Given the description of an element on the screen output the (x, y) to click on. 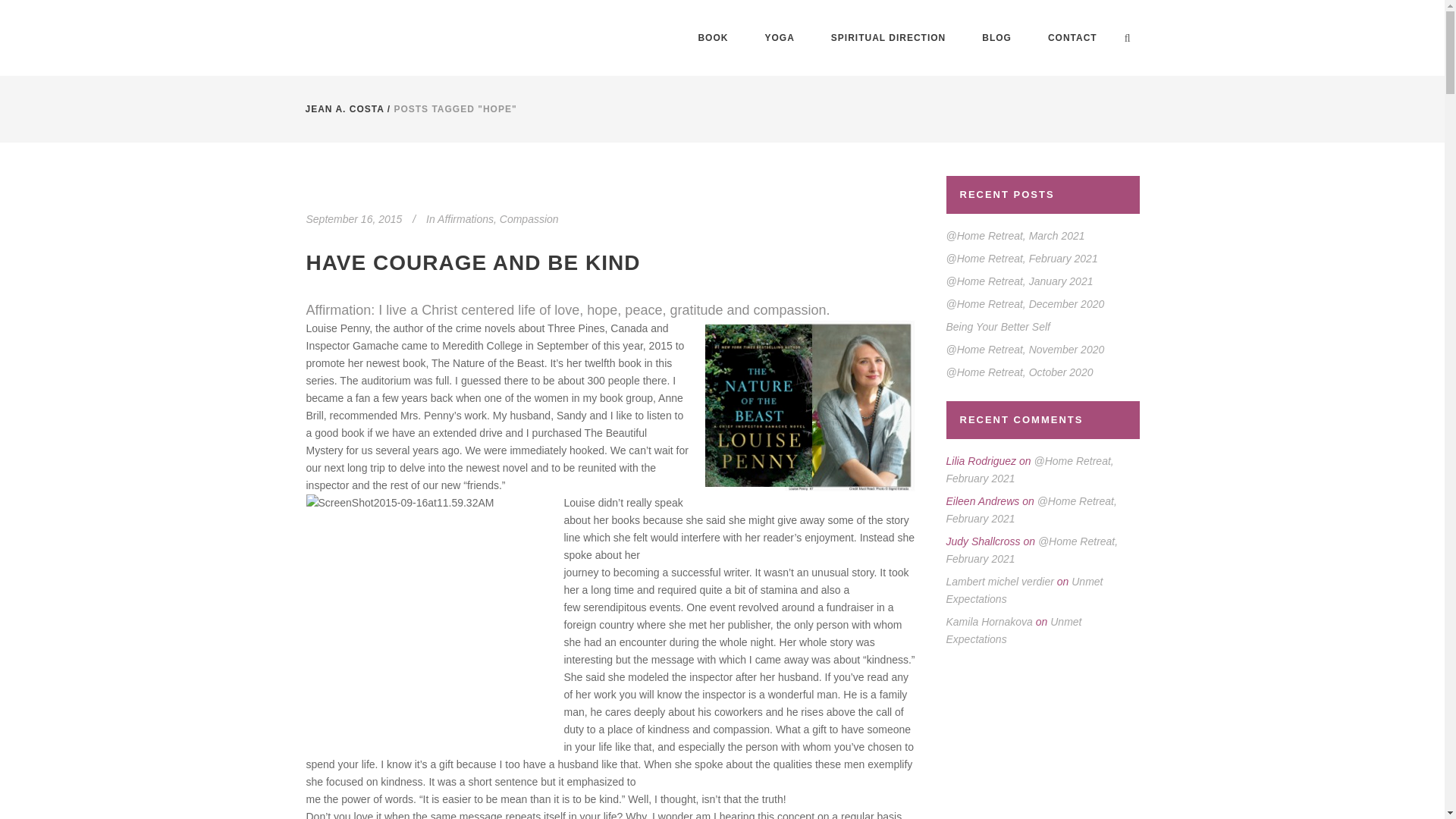
CONTACT (1072, 38)
SPIRITUAL DIRECTION (887, 38)
Affirmations (465, 218)
Compassion (529, 218)
JEAN A. COSTA (344, 109)
HAVE COURAGE AND BE KIND (472, 262)
